Given the description of an element on the screen output the (x, y) to click on. 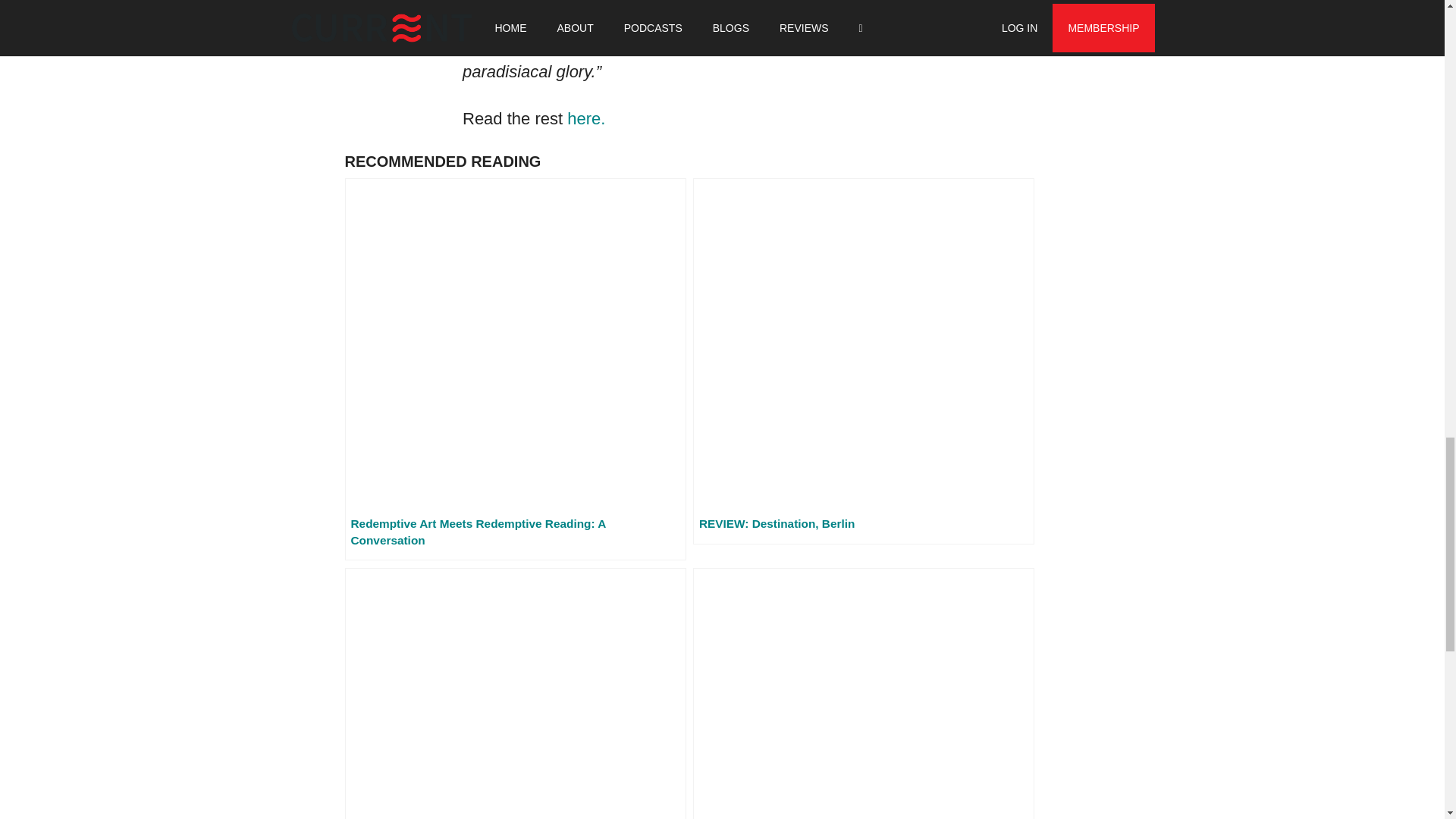
REVIEW: Destination, Berlin (863, 361)
REVIEW: Destination, Berlin (863, 361)
Redemptive Art Meets Redemptive Reading: A Conversation (514, 369)
What is going at Valparaiso University? (514, 693)
What is going at Valparaiso University? (514, 693)
Redemptive Art Meets Redemptive Reading: A Conversation (514, 369)
here. (586, 117)
